Given the description of an element on the screen output the (x, y) to click on. 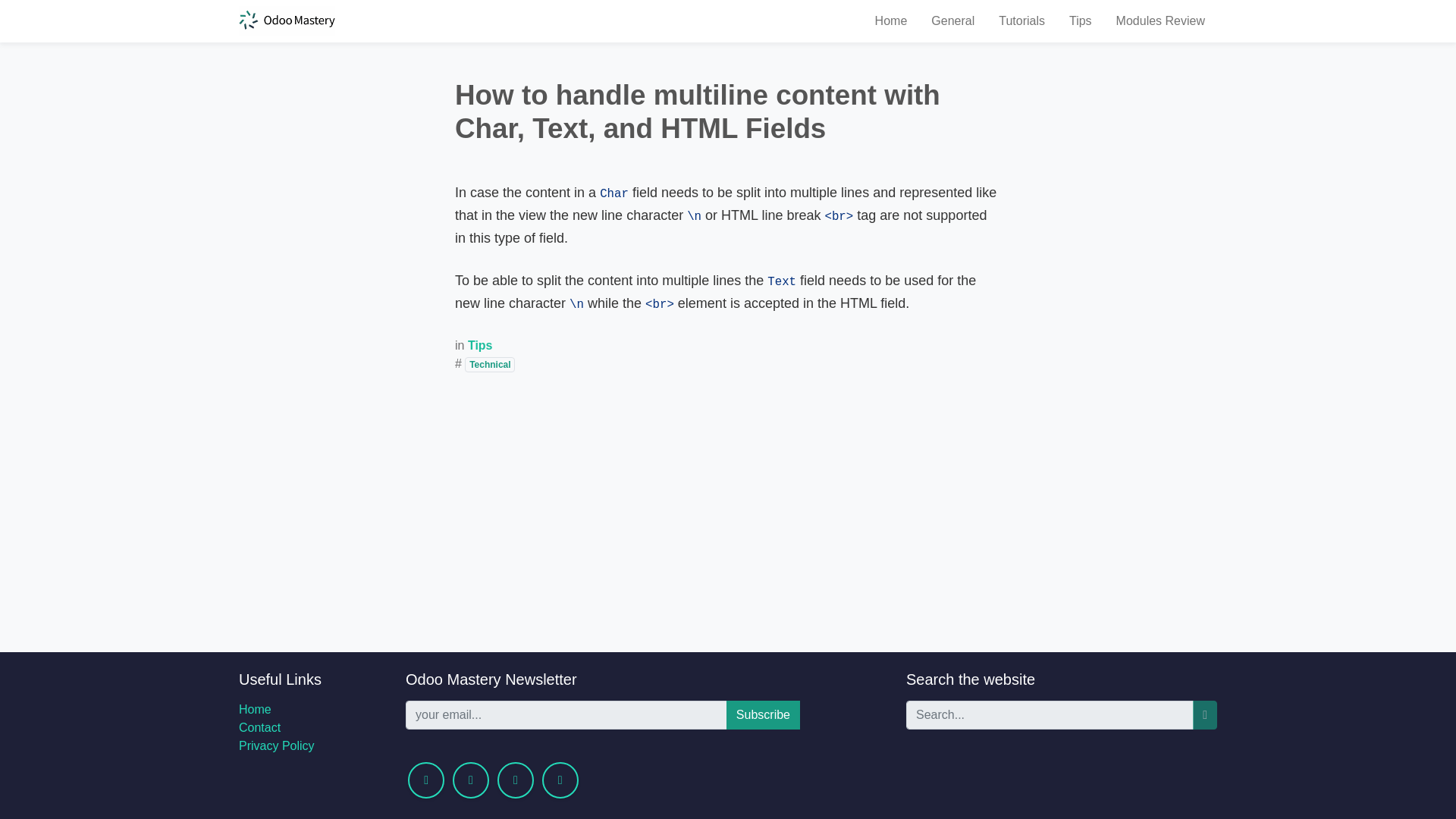
Privacy Policy (276, 745)
Home (891, 20)
Subscribe (762, 715)
Contact (259, 727)
Odoo Mastery (286, 20)
General (952, 20)
Tips (480, 345)
Home (254, 708)
Technical (489, 364)
Tutorials (1022, 20)
Tips (1080, 20)
Modules Review (1160, 20)
